Given the description of an element on the screen output the (x, y) to click on. 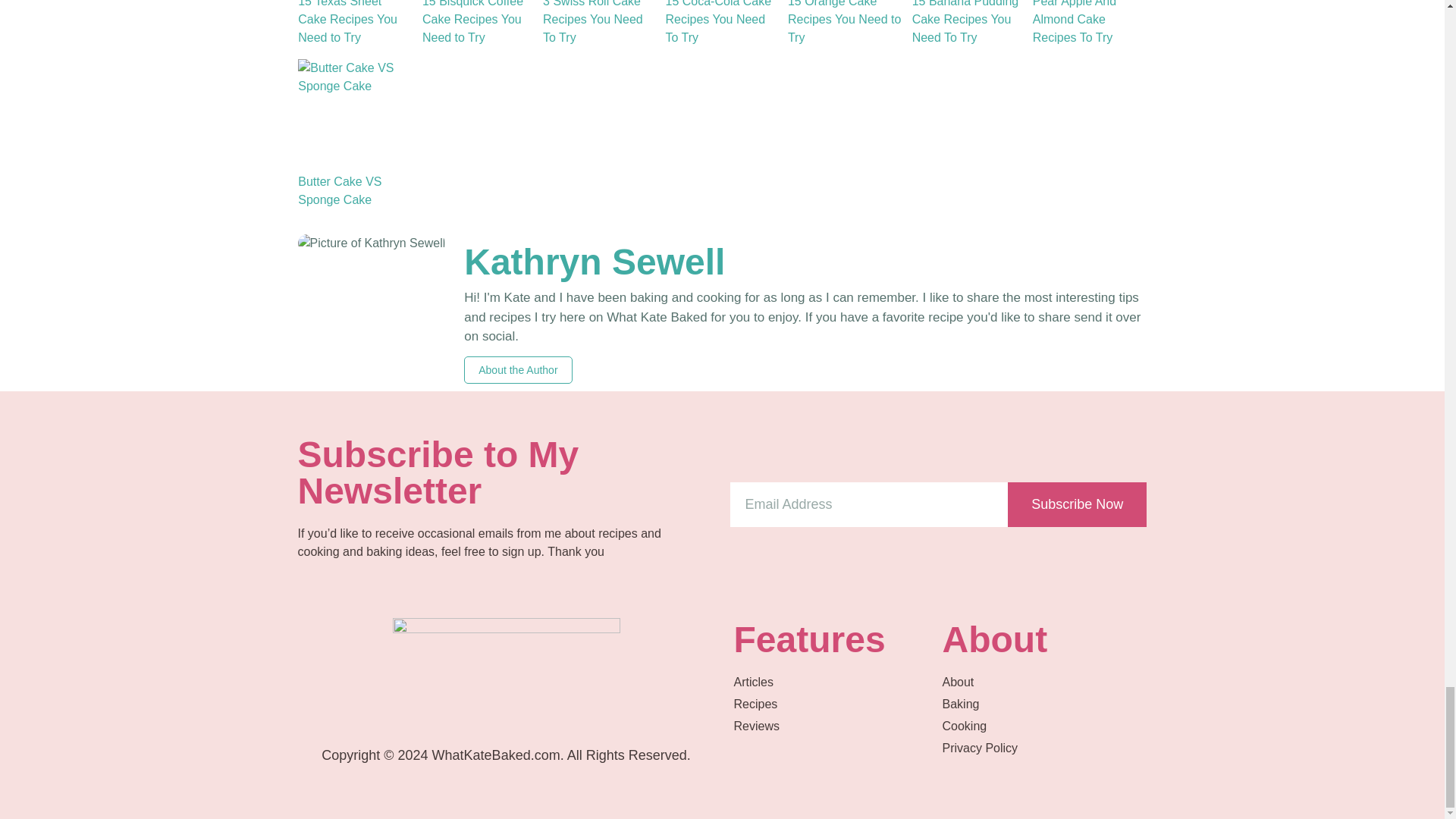
Butter Cake VS Sponge Cake (355, 115)
